Given the description of an element on the screen output the (x, y) to click on. 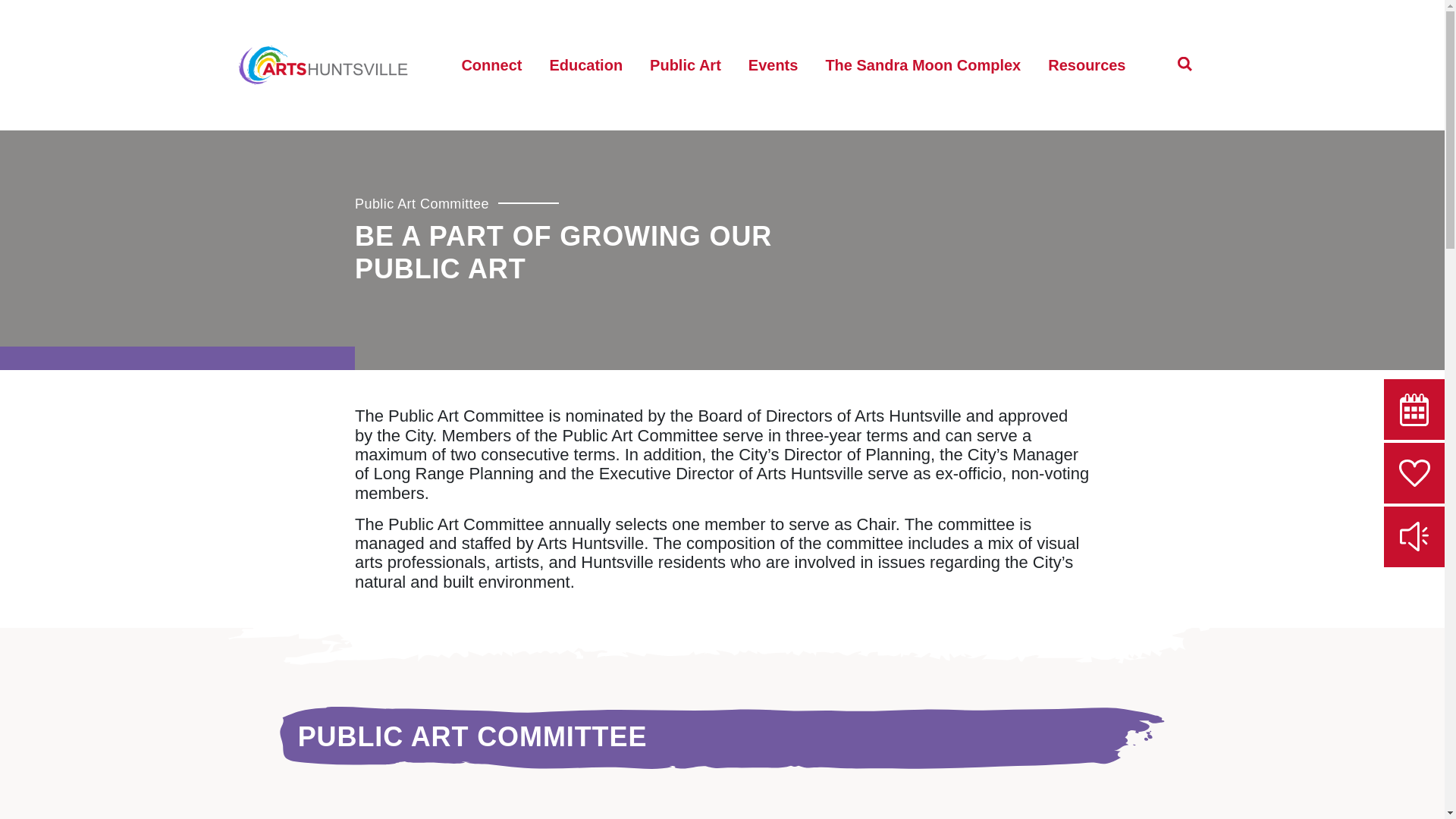
Events (773, 64)
Public Art (685, 64)
Connect (490, 64)
Open Search (1184, 64)
Education (585, 64)
The Sandra Moon Complex (921, 64)
Return home (323, 64)
Resources (1085, 64)
